Given the description of an element on the screen output the (x, y) to click on. 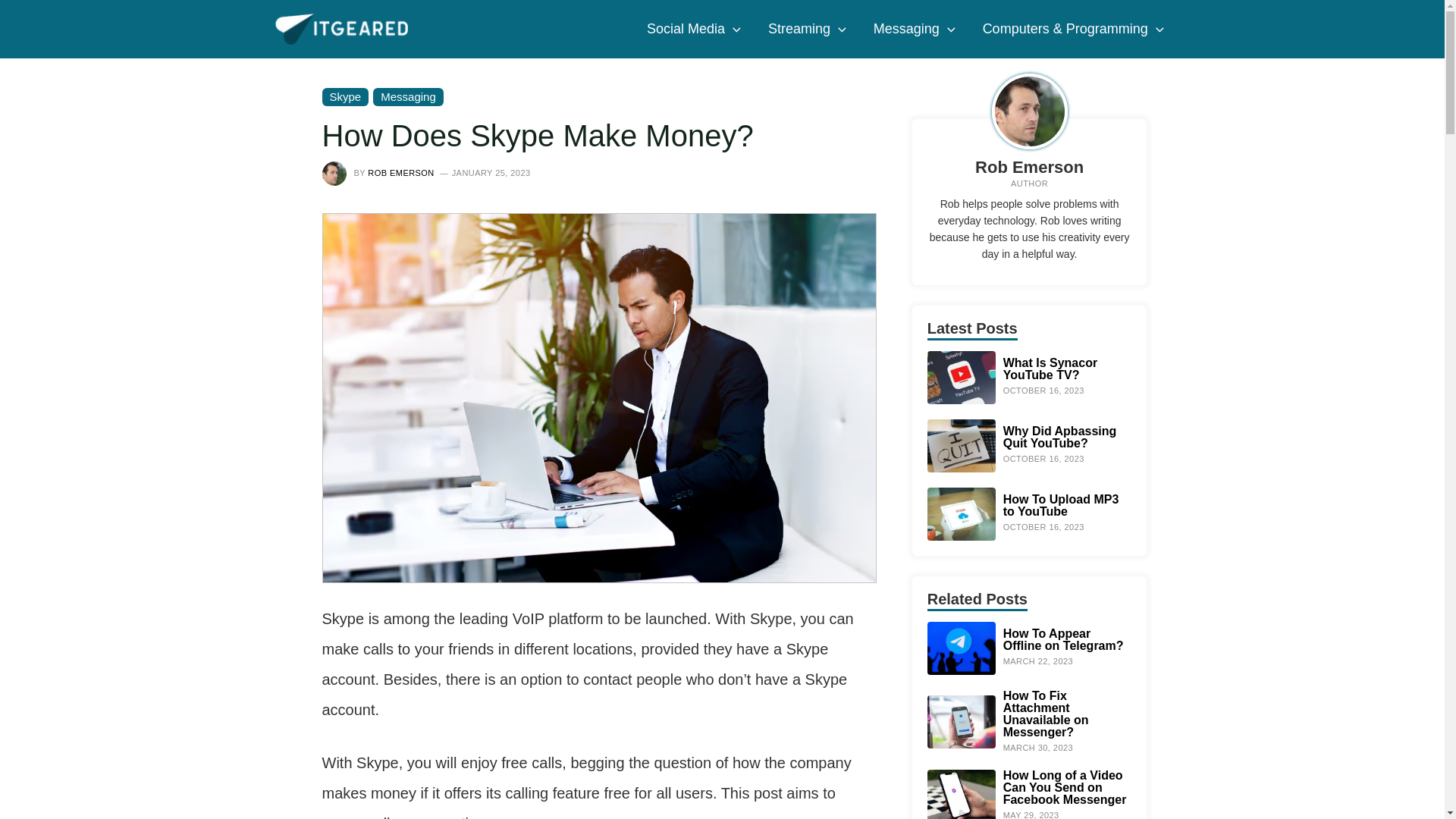
Social Media (693, 28)
Messaging (914, 28)
Streaming (807, 28)
